Given the description of an element on the screen output the (x, y) to click on. 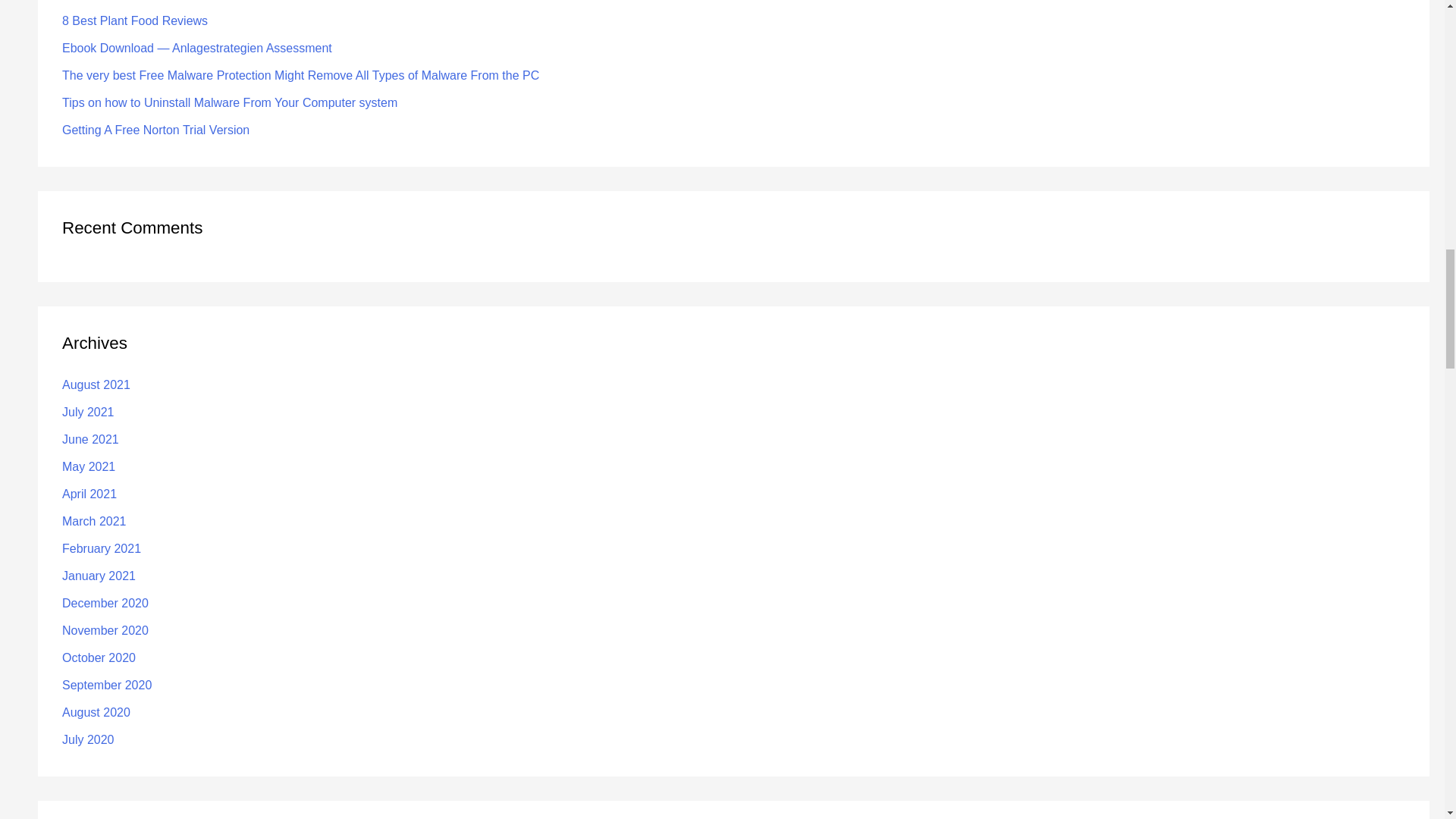
Tips on how to Uninstall Malware From Your Computer system (229, 102)
March 2021 (94, 521)
October 2020 (98, 657)
January 2021 (98, 575)
December 2020 (105, 603)
June 2021 (90, 439)
May 2021 (88, 466)
July 2020 (88, 739)
September 2020 (106, 684)
August 2021 (96, 384)
